Given the description of an element on the screen output the (x, y) to click on. 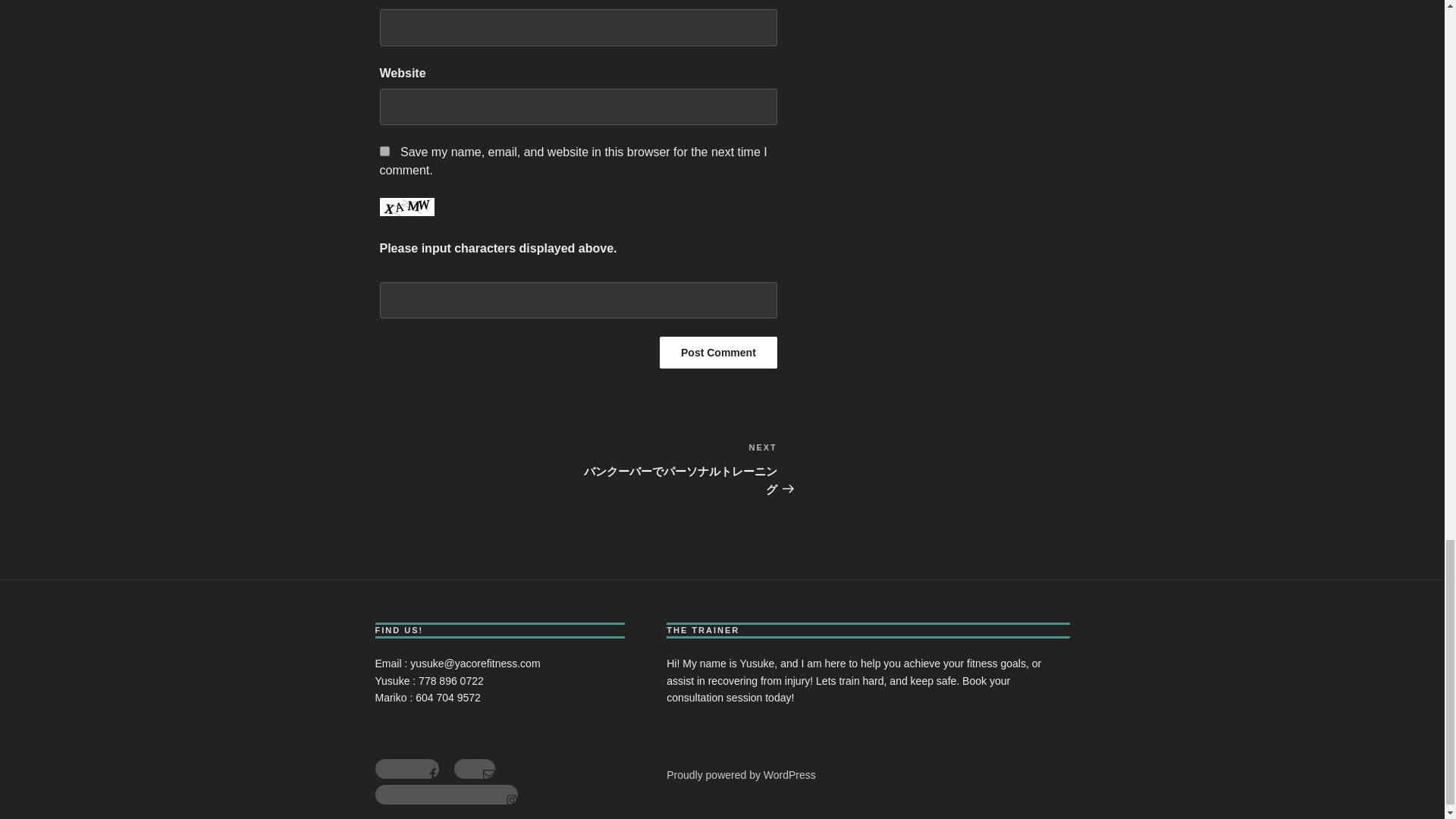
yes (383, 151)
Post Comment (718, 352)
Post Comment (718, 352)
